Given the description of an element on the screen output the (x, y) to click on. 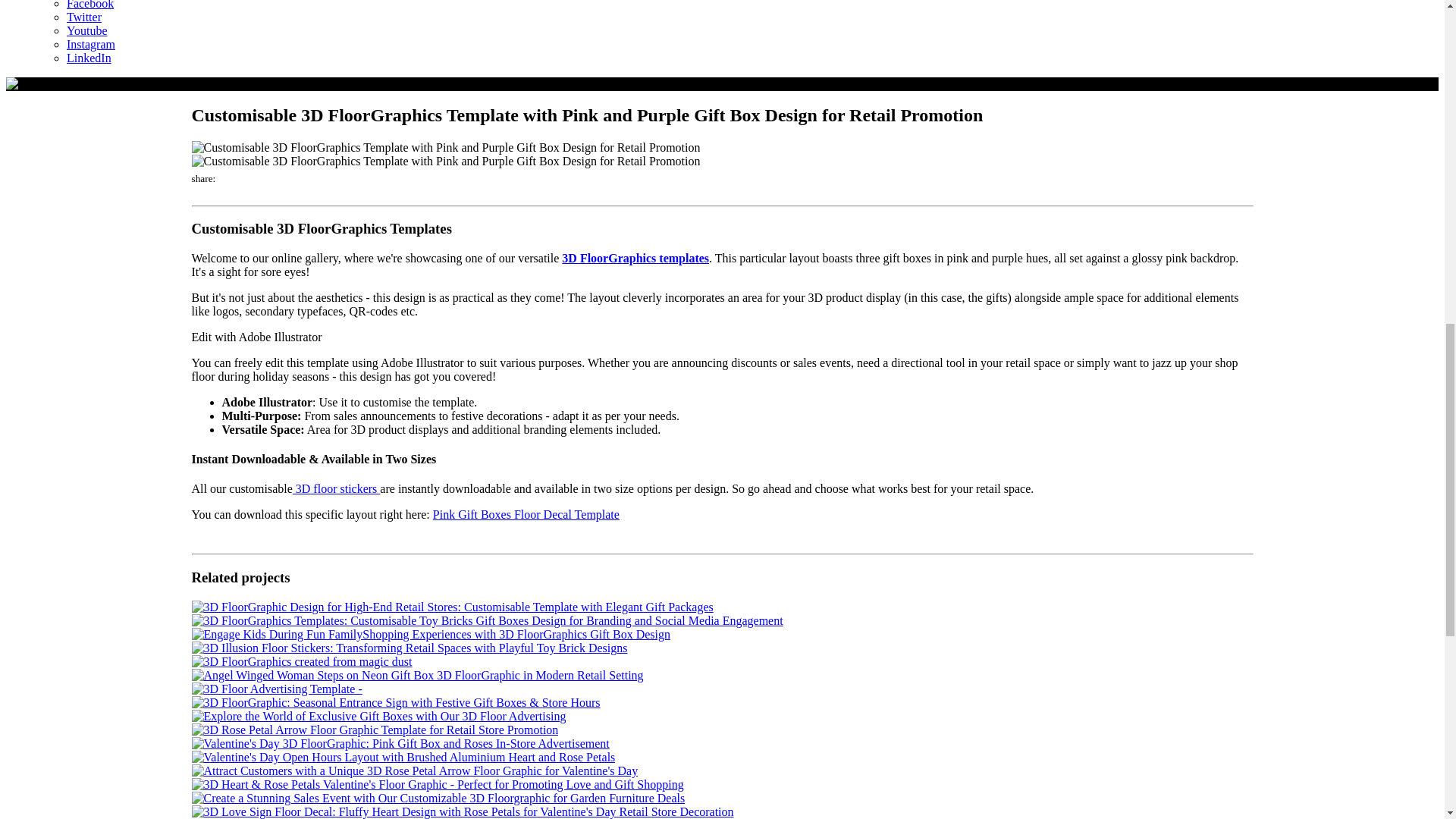
Instagram (90, 46)
Youtube (86, 32)
Twitter (83, 18)
